Given the description of an element on the screen output the (x, y) to click on. 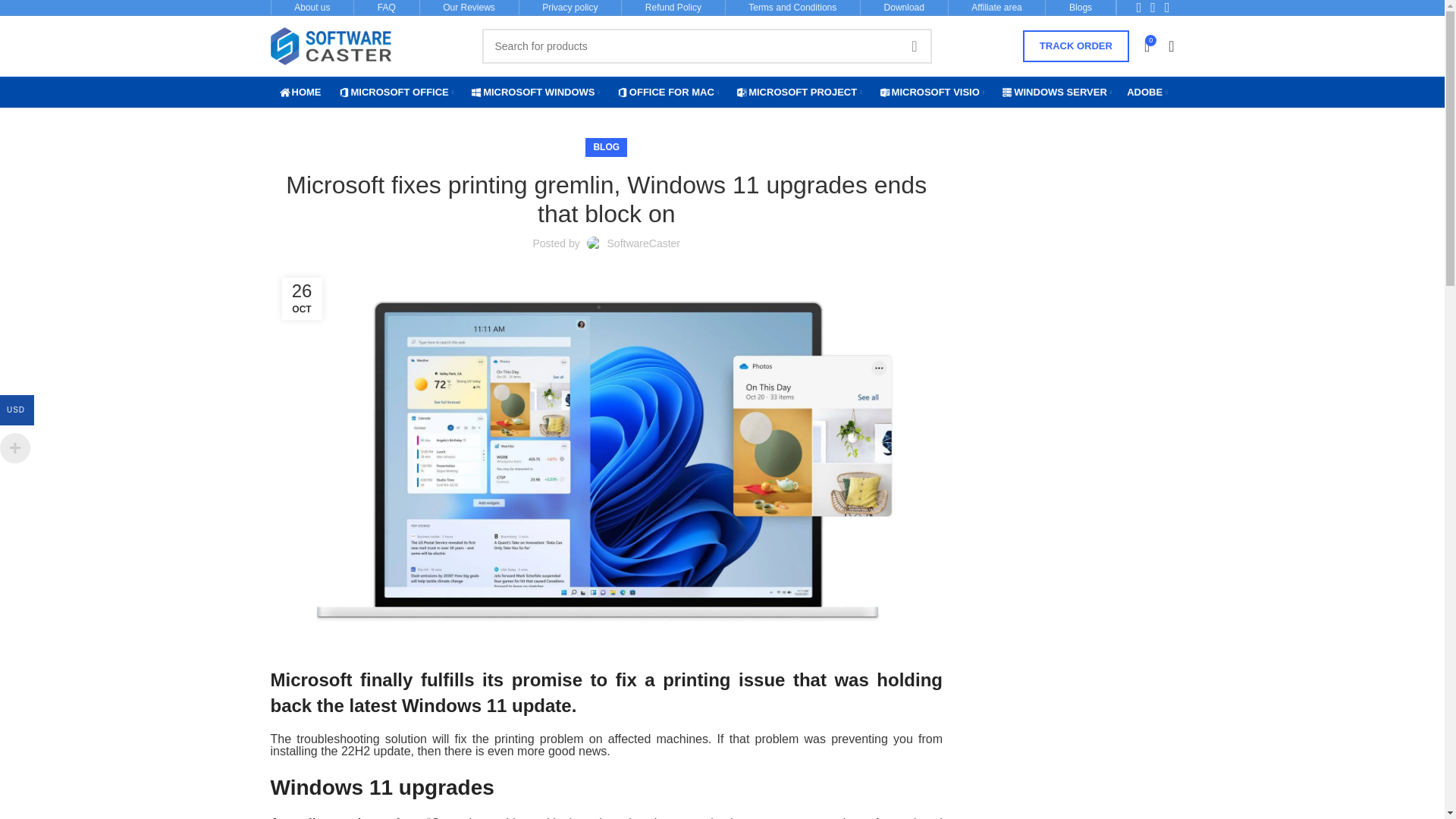
Download (903, 7)
HOME (305, 91)
Terms and Conditions (791, 7)
Search for products (706, 45)
TRACK ORDER (1076, 46)
About us (312, 7)
Log in (1049, 280)
Affiliate area (996, 7)
Privacy policy (568, 7)
Our Reviews (468, 7)
MICROSOFT WINDOWS (541, 91)
MICROSOFT OFFICE (401, 91)
Refund Policy (673, 7)
SEARCH (913, 45)
FAQ (386, 7)
